Given the description of an element on the screen output the (x, y) to click on. 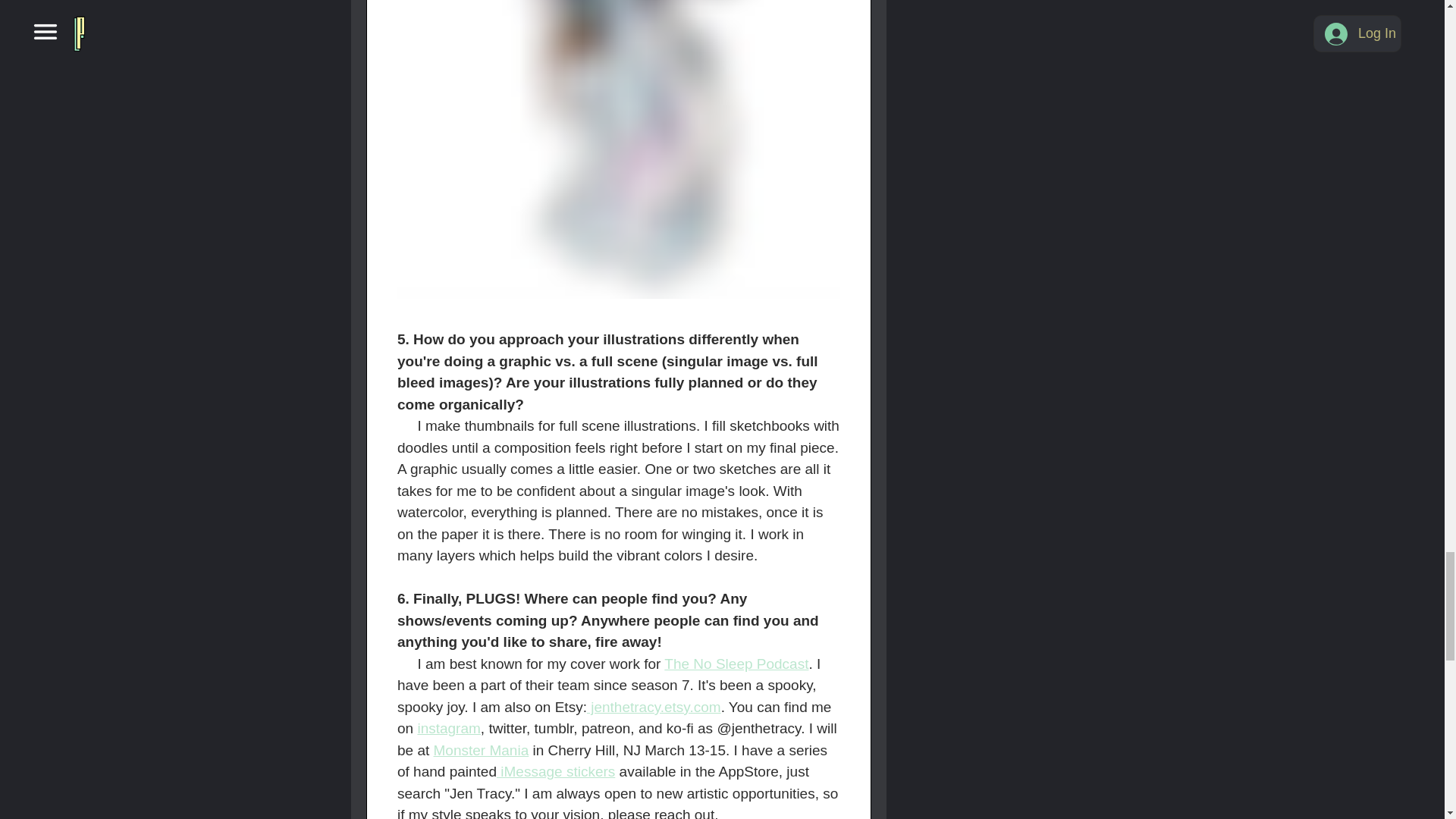
instagram (448, 728)
 jenthetracy.etsy.com (653, 706)
Monster Mania (480, 750)
 iMessage stickers (555, 771)
The No Sleep Podcast (735, 663)
